Given the description of an element on the screen output the (x, y) to click on. 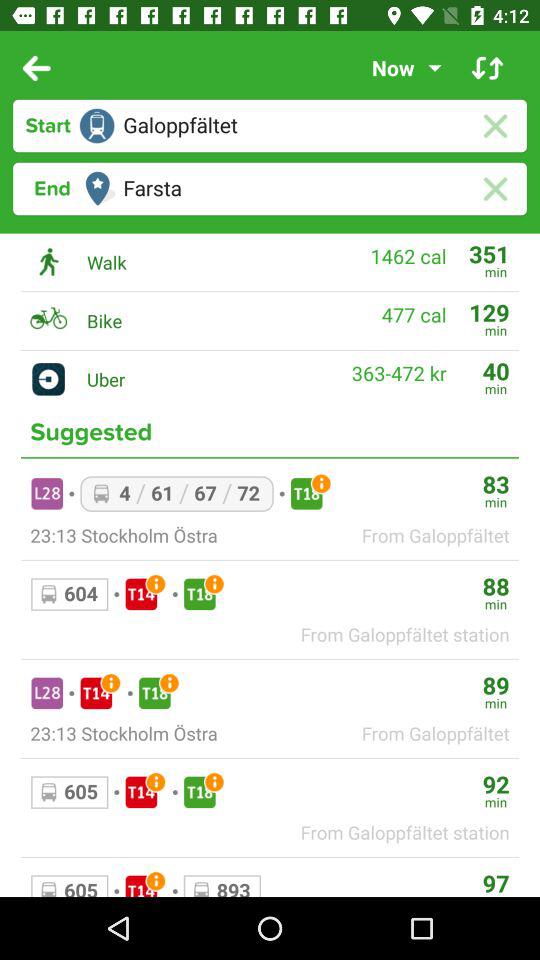
delete route (494, 188)
